Given the description of an element on the screen output the (x, y) to click on. 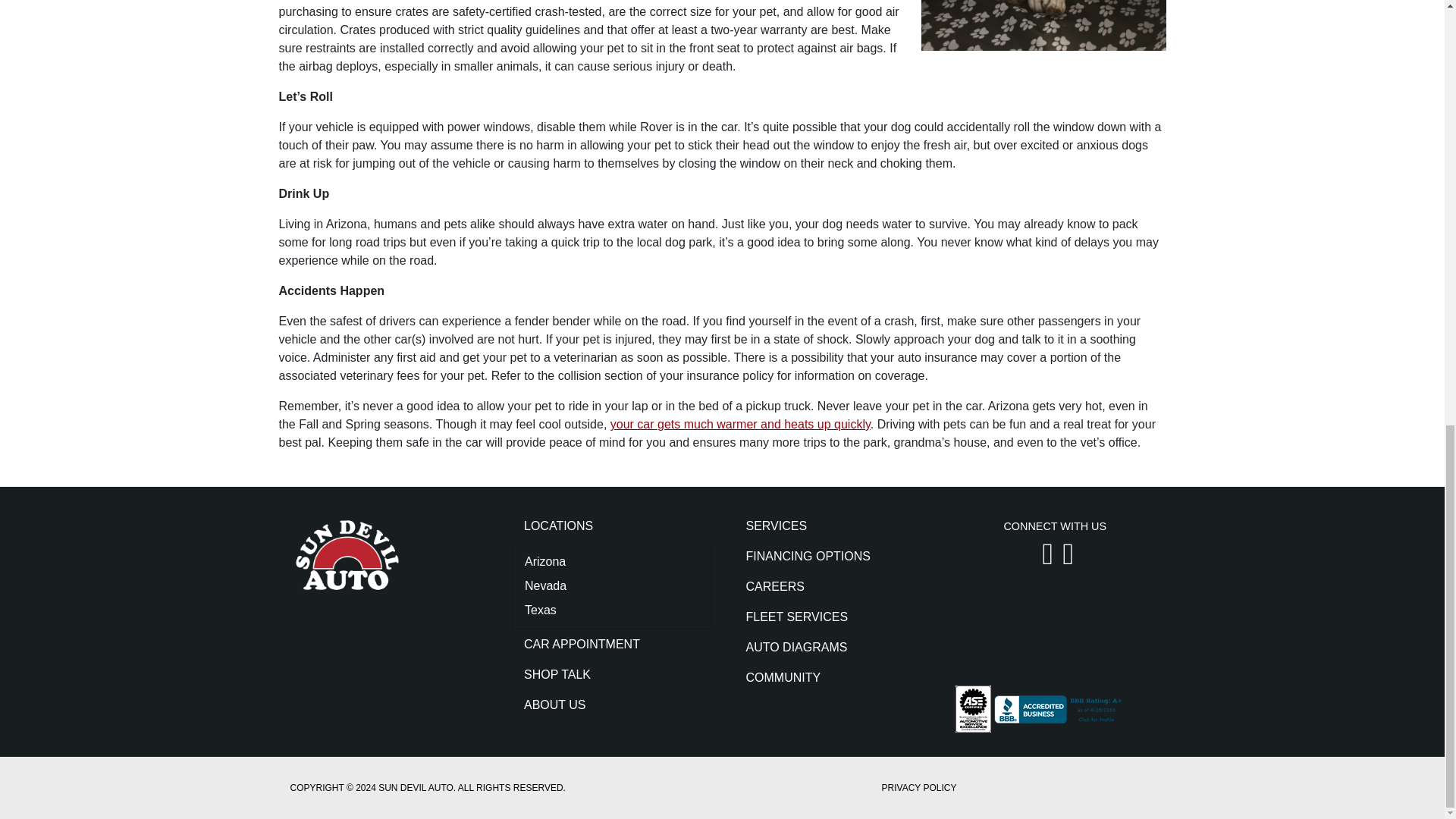
your car gets much warmer and heats up quickly (740, 423)
ABOUT US (611, 705)
Arizona (611, 561)
Texas (611, 610)
CAREERS (833, 586)
AUTO DIAGRAMS (833, 647)
FINANCING OPTIONS (833, 556)
CAR APPOINTMENT (611, 644)
About Us (611, 705)
SHOP TALK (611, 675)
LOCATIONS (611, 526)
Car Appointment (611, 644)
FLEET SERVICES (833, 616)
Arizona (611, 561)
Nevada (611, 586)
